Given the description of an element on the screen output the (x, y) to click on. 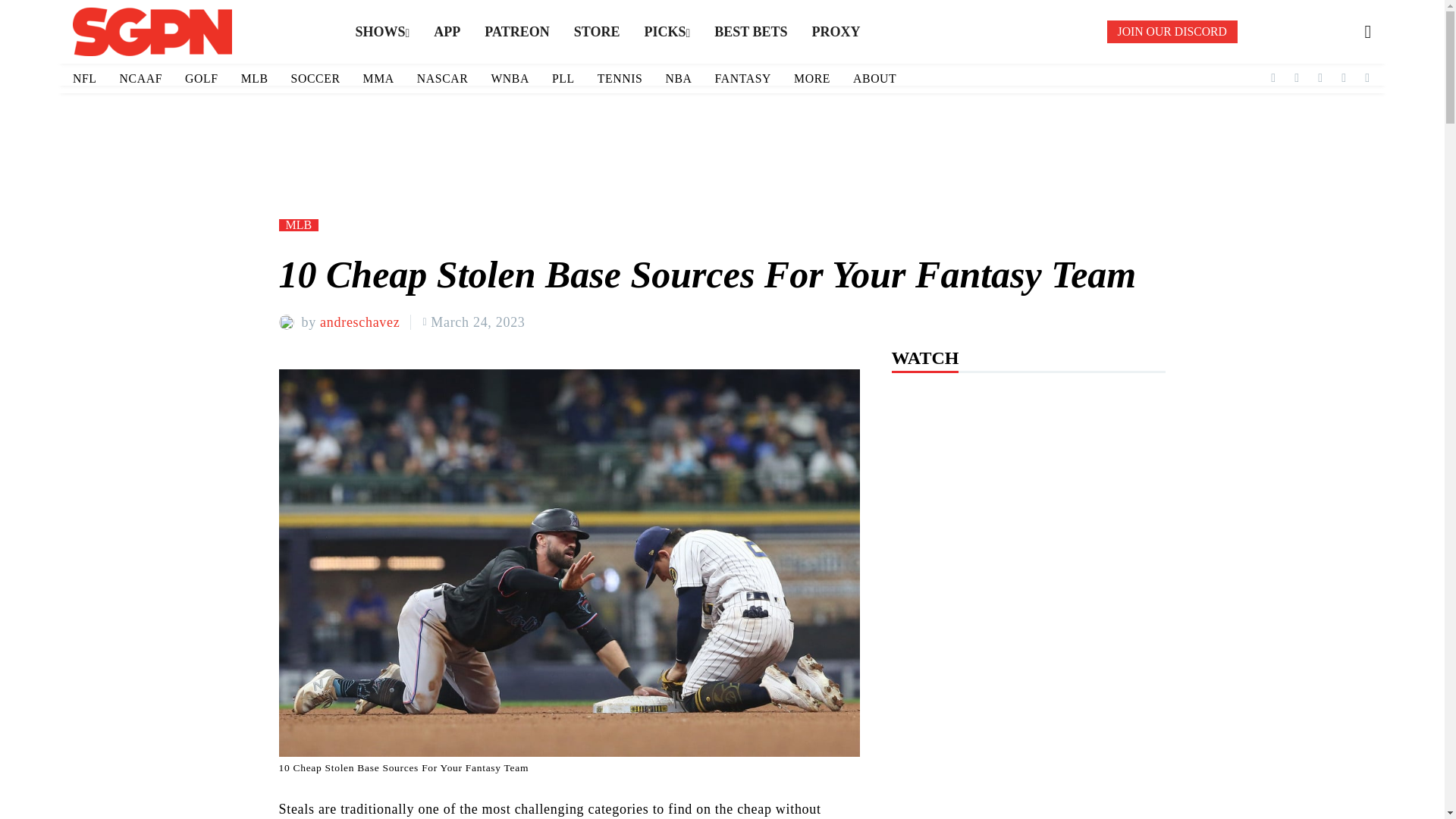
APP (446, 31)
Get the SPN App ! (446, 31)
Discord (1367, 78)
TikTok (1320, 78)
PICKS (666, 31)
Shows in the Sports Gambling Podcast Network (382, 31)
PATREON (515, 31)
Watch SGPN on YouTube or Twitch (515, 31)
Discord ! (1171, 31)
Shop for SGPN Merch ! (596, 31)
